Given the description of an element on the screen output the (x, y) to click on. 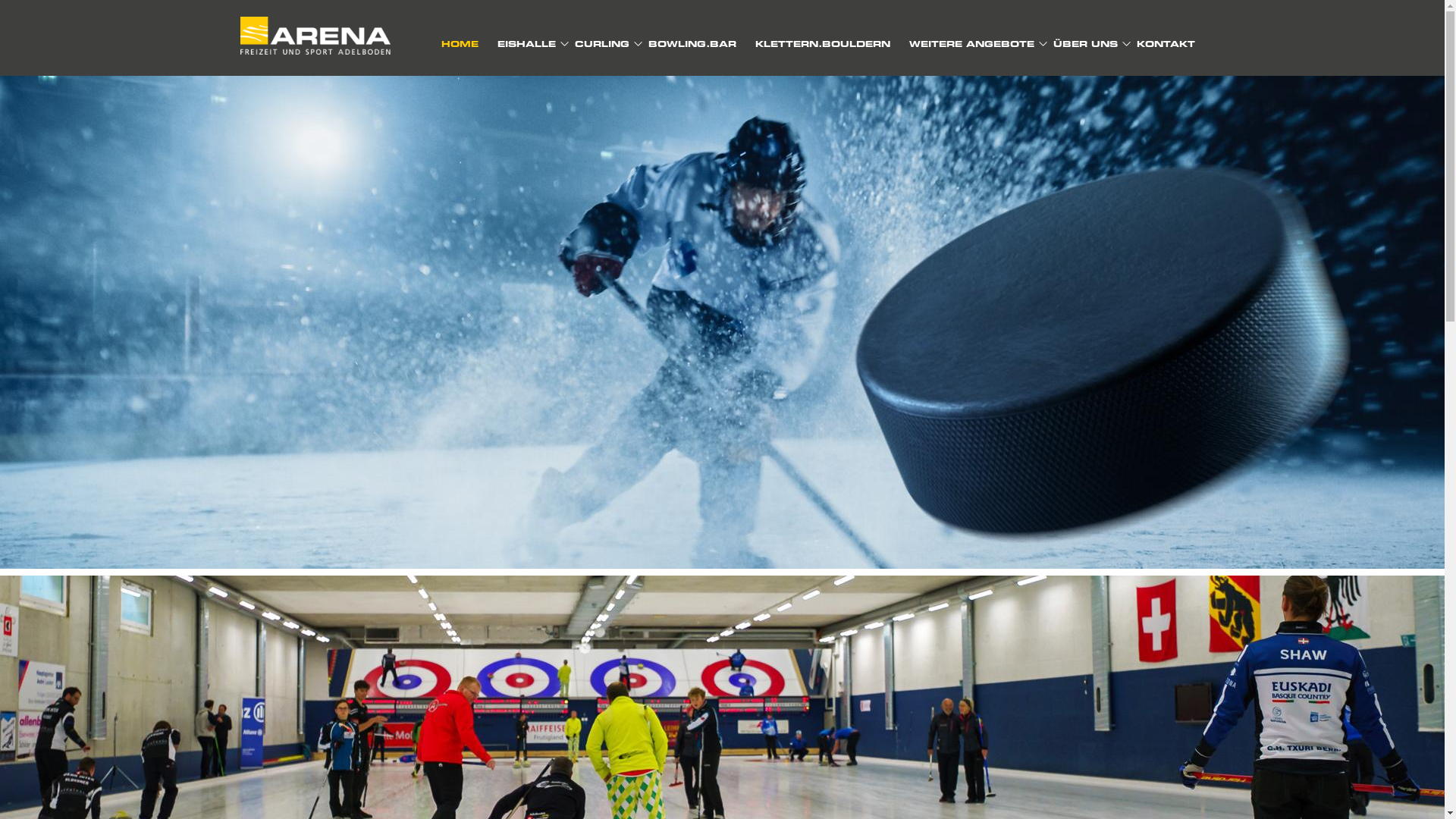
EISHALLE Element type: text (526, 43)
BOWLING.BAR Element type: text (691, 43)
CURLING Element type: text (601, 43)
KLETTERN.BOULDERN Element type: text (822, 43)
KONTAKT Element type: text (1164, 43)
HOME Element type: text (459, 43)
WEITERE ANGEBOTE Element type: text (970, 43)
